Given the description of an element on the screen output the (x, y) to click on. 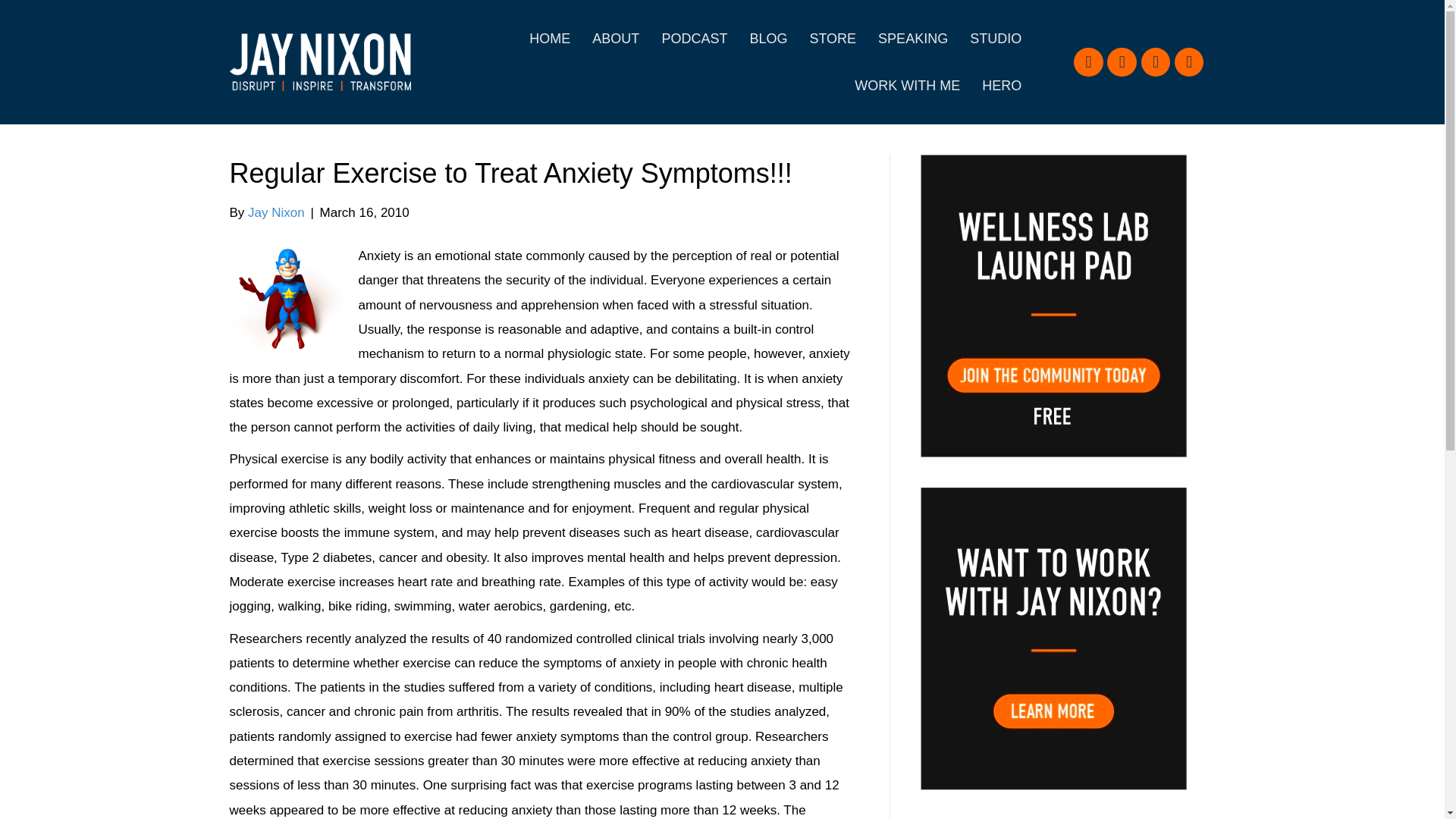
Nixon Elite (285, 299)
HERO (1001, 85)
WORK WITH ME (907, 85)
BLOG (767, 38)
PODCAST (694, 38)
Jay Nixon (275, 212)
SPEAKING (912, 38)
STORE (831, 38)
STUDIO (995, 38)
logo (319, 61)
ABOUT (614, 38)
HOME (549, 38)
